Given the description of an element on the screen output the (x, y) to click on. 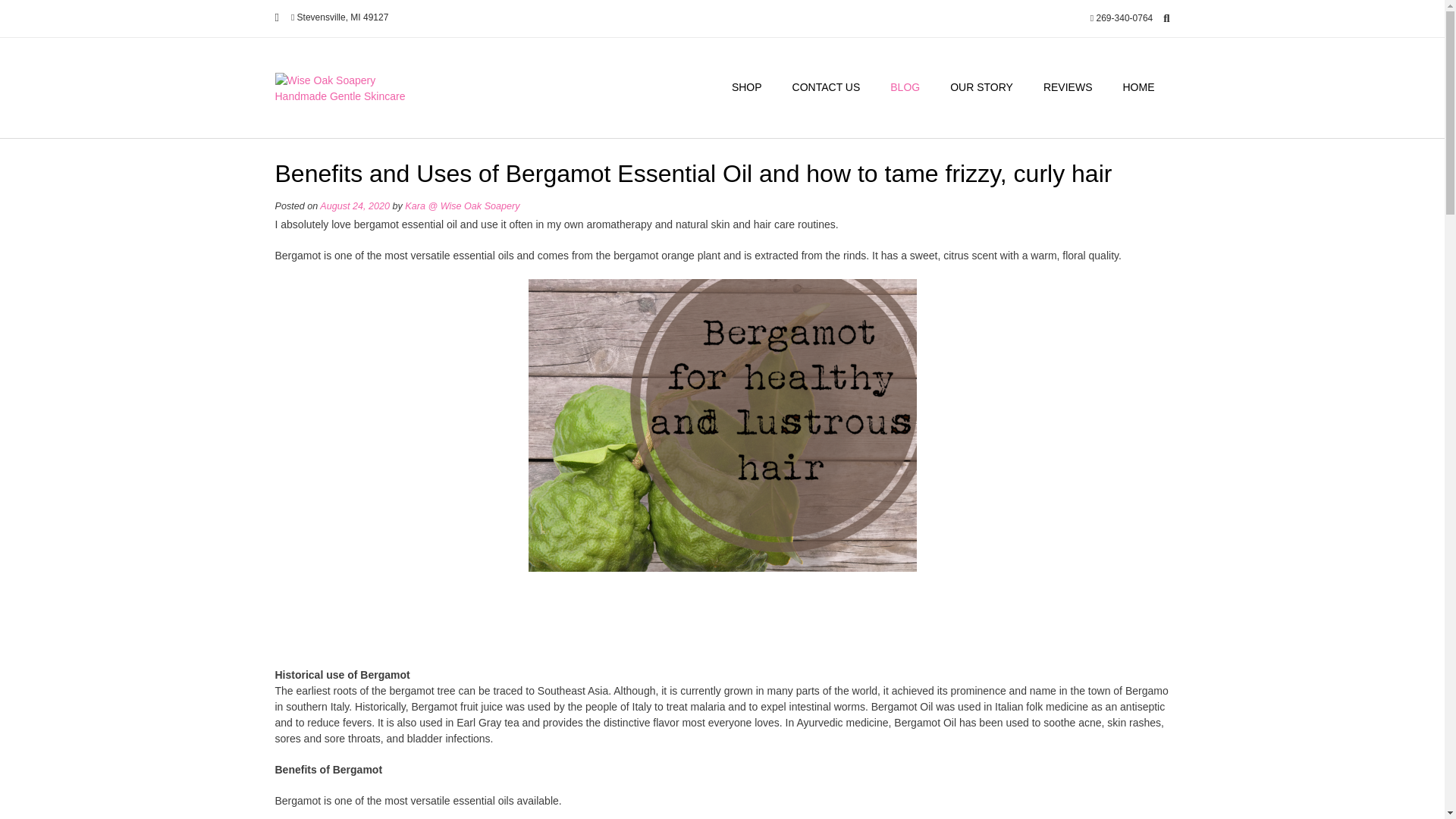
August 24, 2020 (355, 205)
OUR STORY (980, 87)
Wise Oak Soapery Handmade Gentle Skincare (350, 88)
CONTACT US (826, 87)
